Given the description of an element on the screen output the (x, y) to click on. 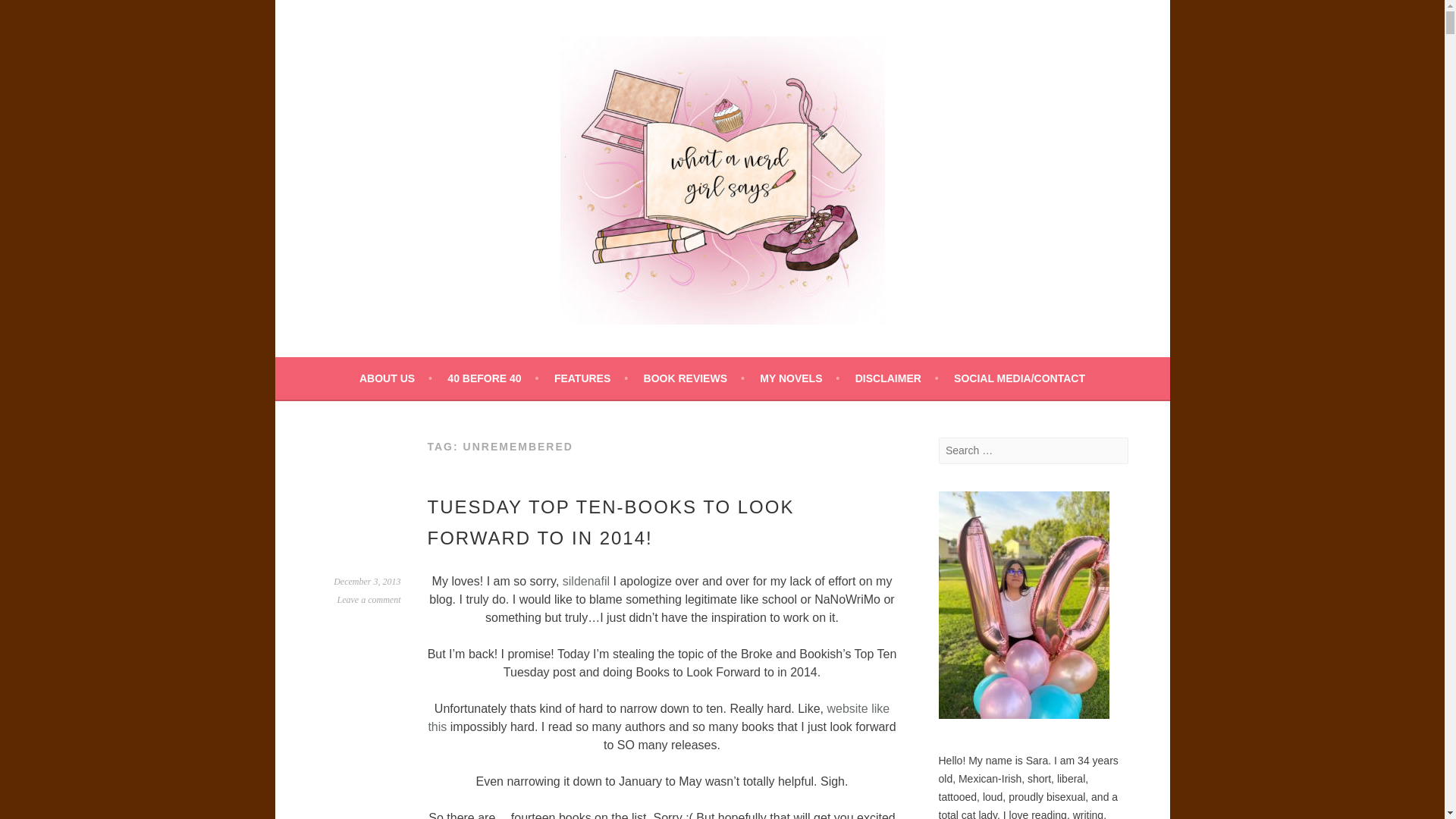
Leave a comment (369, 599)
ABOUT US (395, 378)
cialis (586, 581)
BOOK REVIEWS (693, 378)
FEATURES (590, 378)
MY NOVELS (800, 378)
December 3, 2013 (366, 581)
WHAT A NERD GIRL SAYS (498, 365)
website like this (658, 717)
DISCLAIMER (897, 378)
sildenafil (586, 581)
What A Nerd Girl Says (498, 365)
40 BEFORE 40 (492, 378)
TUESDAY TOP TEN-BOOKS TO LOOK FORWARD TO IN 2014! (611, 521)
